Given the description of an element on the screen output the (x, y) to click on. 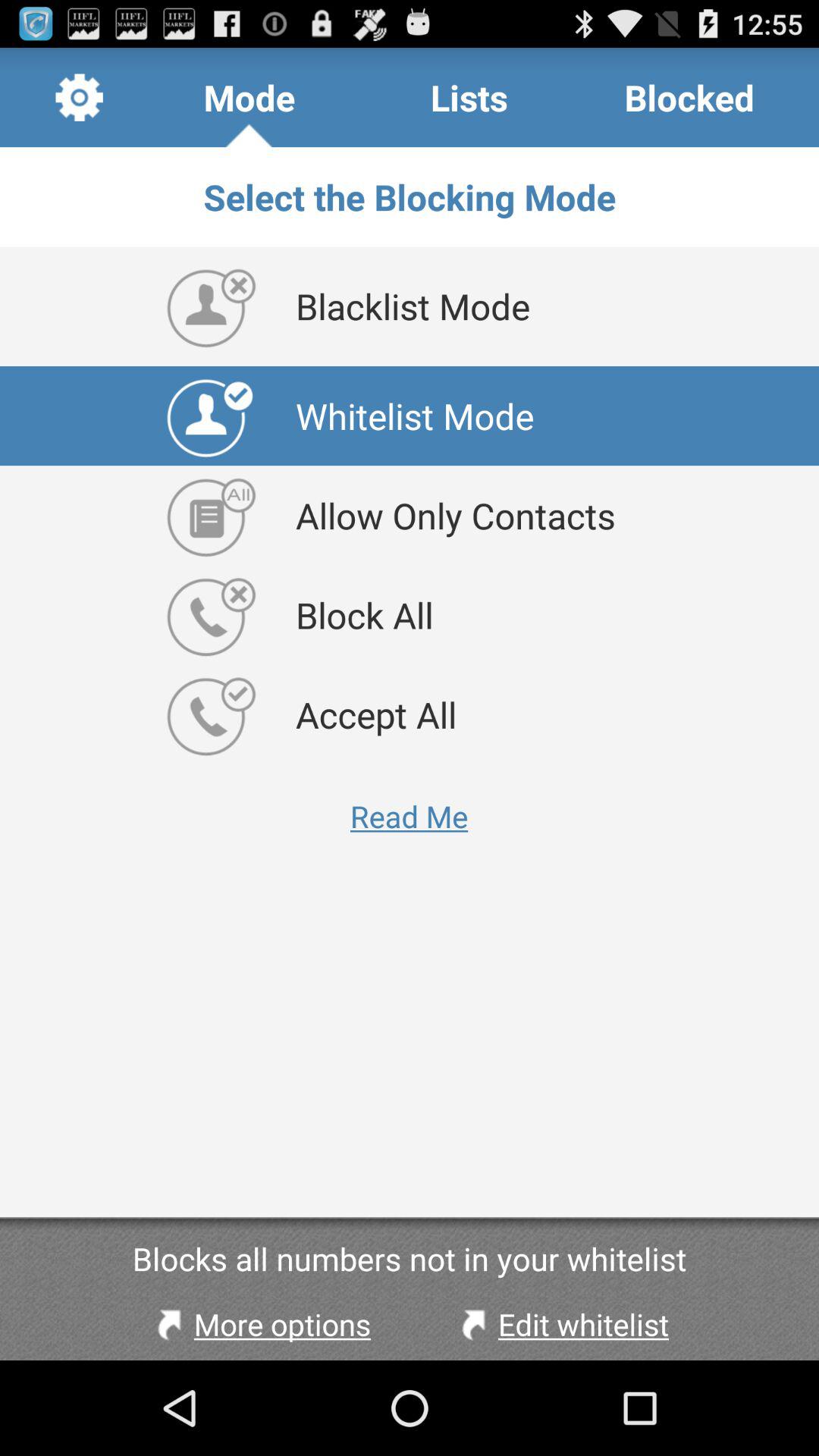
turn off lists (469, 97)
